Given the description of an element on the screen output the (x, y) to click on. 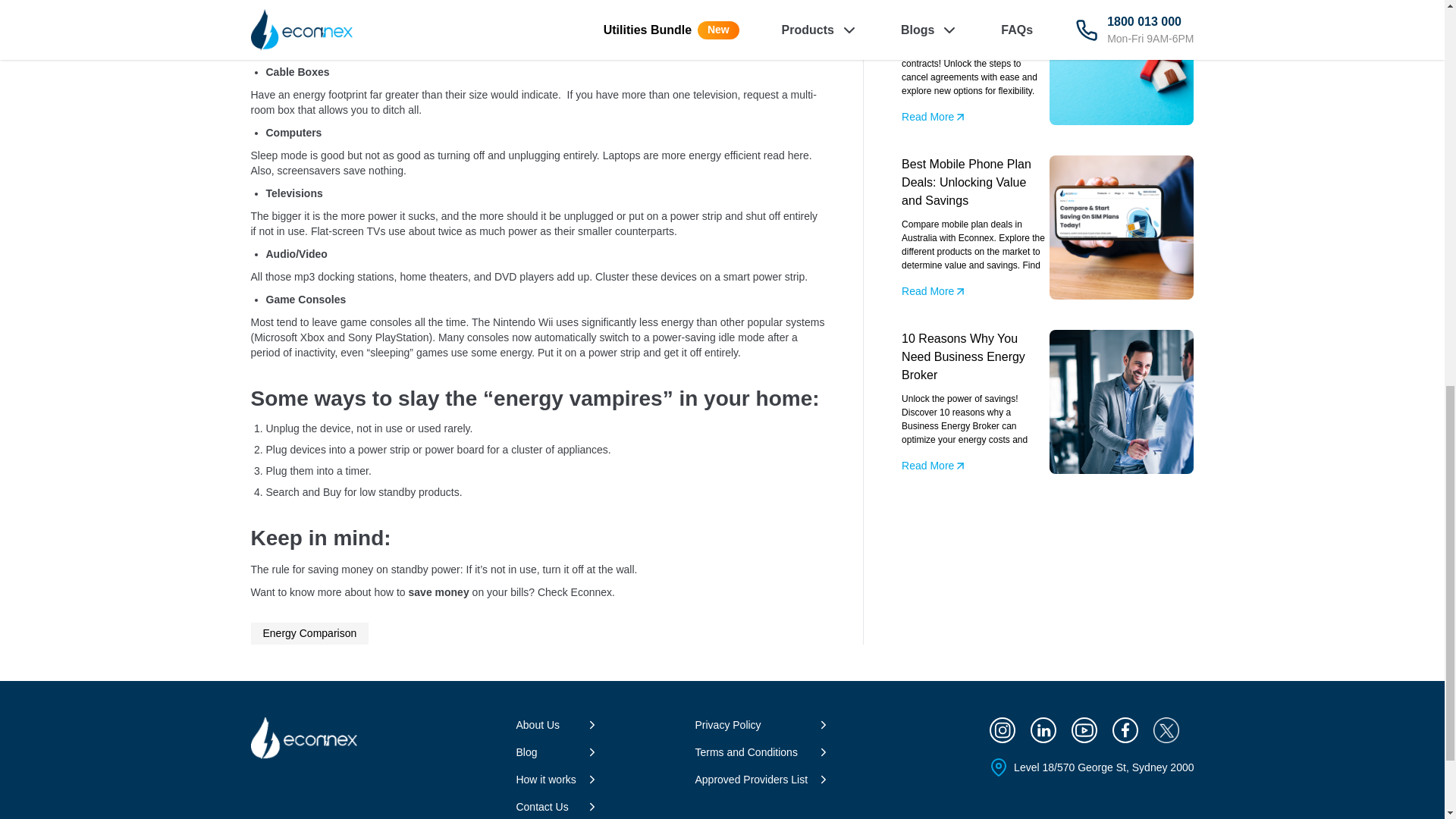
Terms and Conditions (750, 752)
Contact Us (545, 806)
Read More (933, 291)
Approved Providers List (755, 779)
Privacy Policy (732, 724)
About Us (542, 724)
Blog (530, 752)
How it works (550, 779)
Read More (933, 116)
Read More (933, 465)
